Given the description of an element on the screen output the (x, y) to click on. 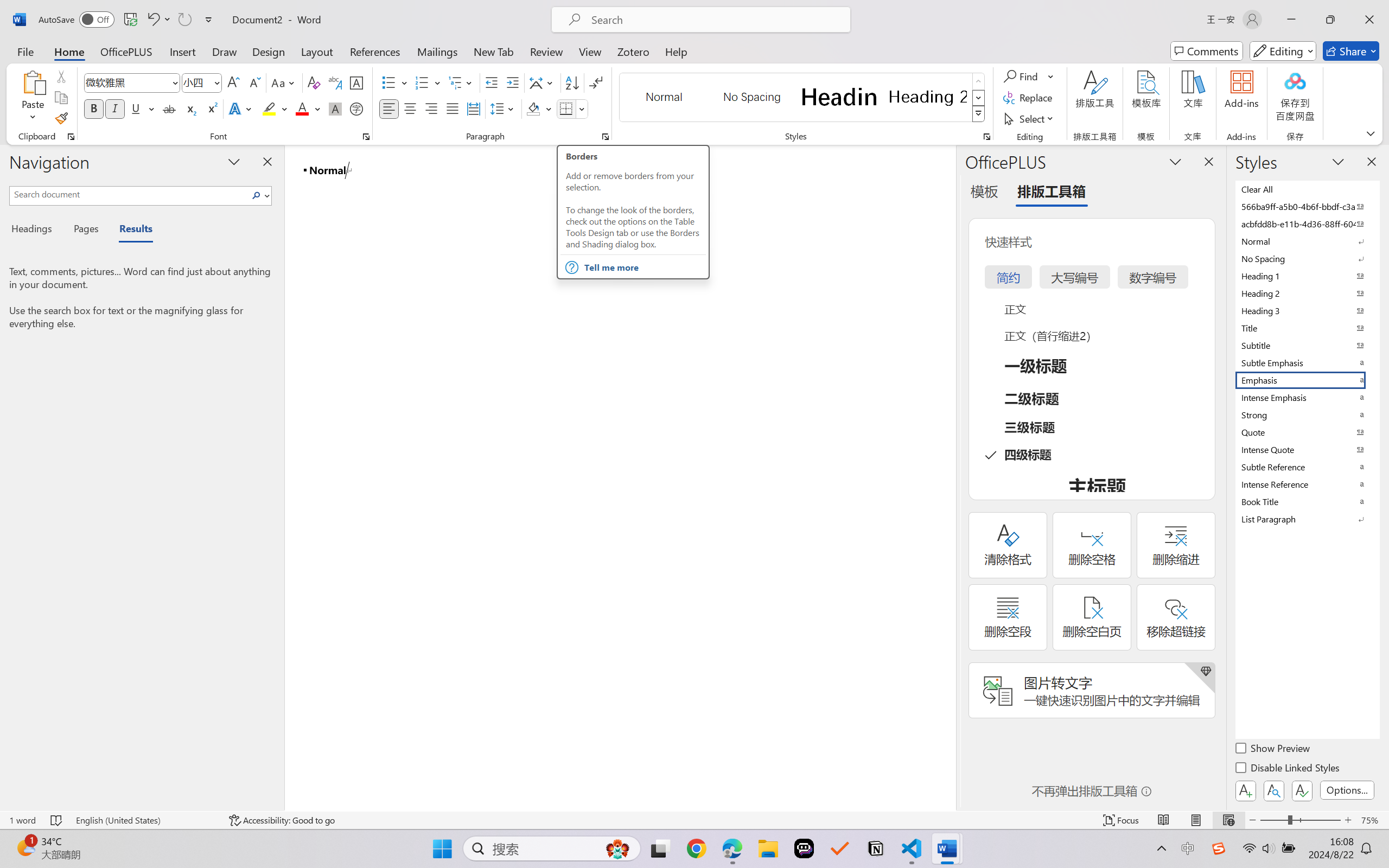
Styles (978, 113)
Italic (115, 108)
Underline (142, 108)
List Paragraph (1306, 518)
Tell me more (644, 267)
Heading 3 (1306, 310)
Home (69, 51)
Text Effects and Typography (241, 108)
Shrink Font (253, 82)
